Given the description of an element on the screen output the (x, y) to click on. 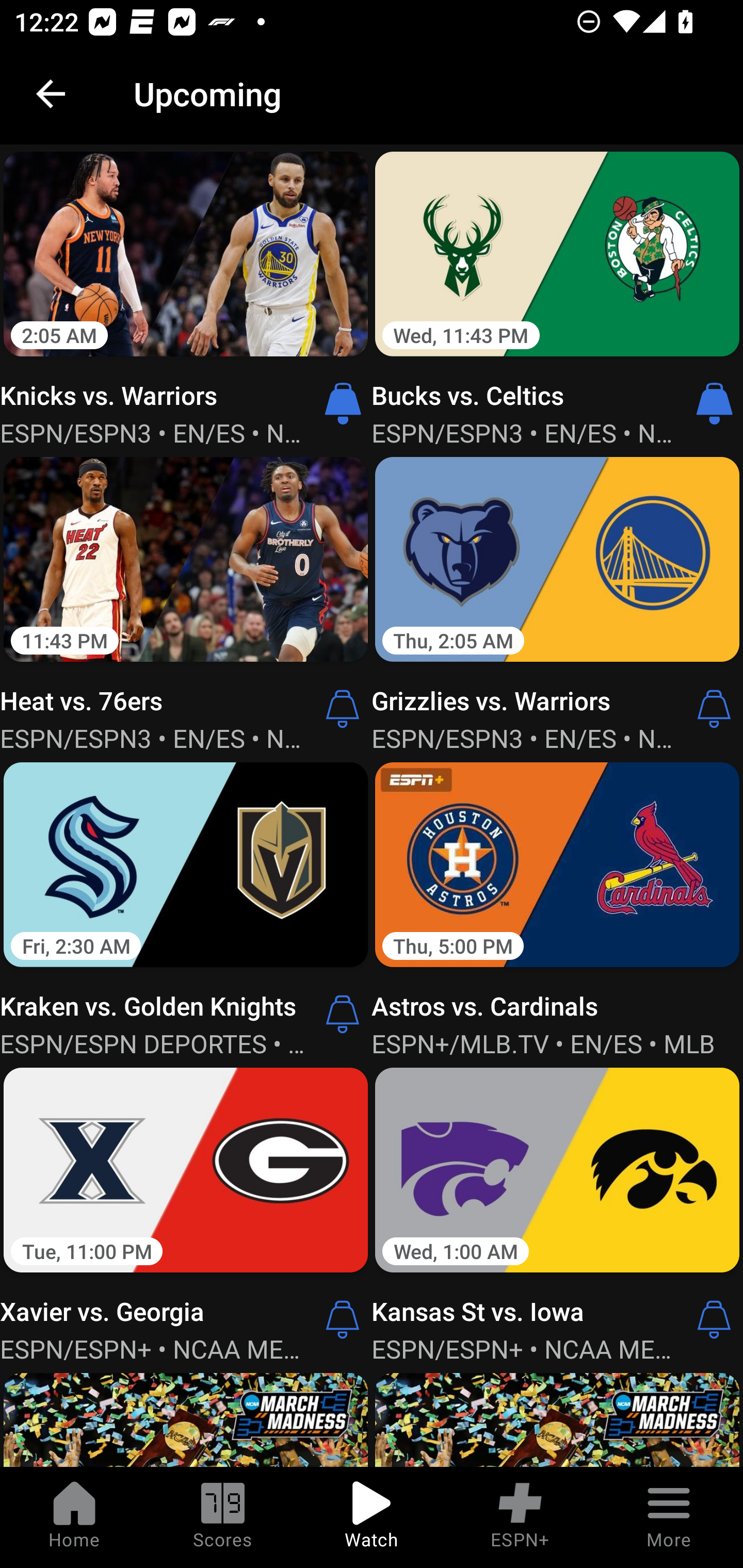
Alerts (342, 708)
Alerts (714, 708)
Alerts (342, 1013)
Alerts (342, 1319)
Alerts (714, 1319)
Home (74, 1517)
Scores (222, 1517)
ESPN+ (519, 1517)
More (668, 1517)
